Given the description of an element on the screen output the (x, y) to click on. 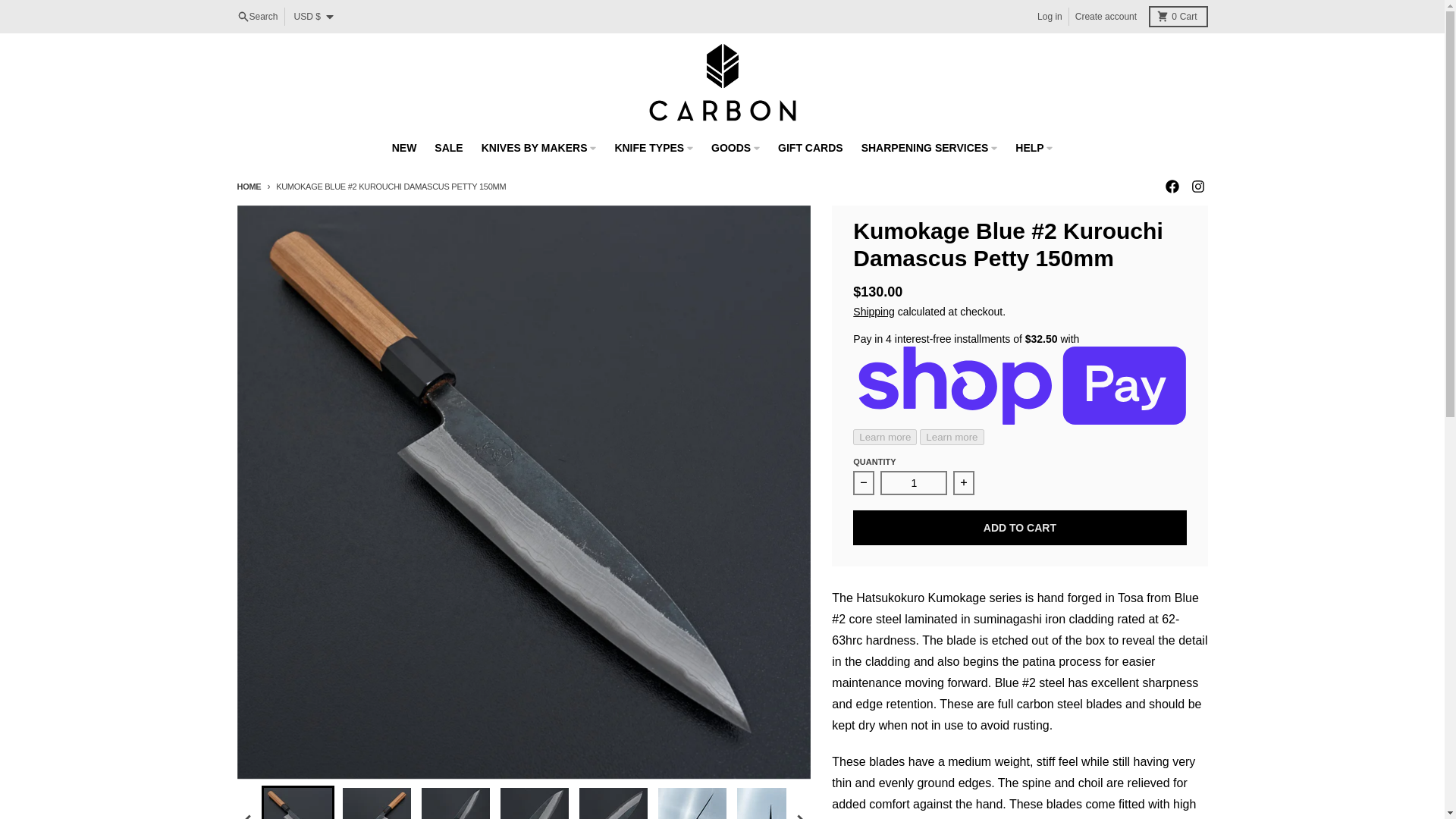
Back to the homepage (247, 185)
Log in (1049, 16)
Instagram - Carbon Knife Co (1197, 185)
Search (256, 16)
1 (913, 482)
Facebook - Carbon Knife Co (1170, 185)
Create account (1177, 16)
